Given the description of an element on the screen output the (x, y) to click on. 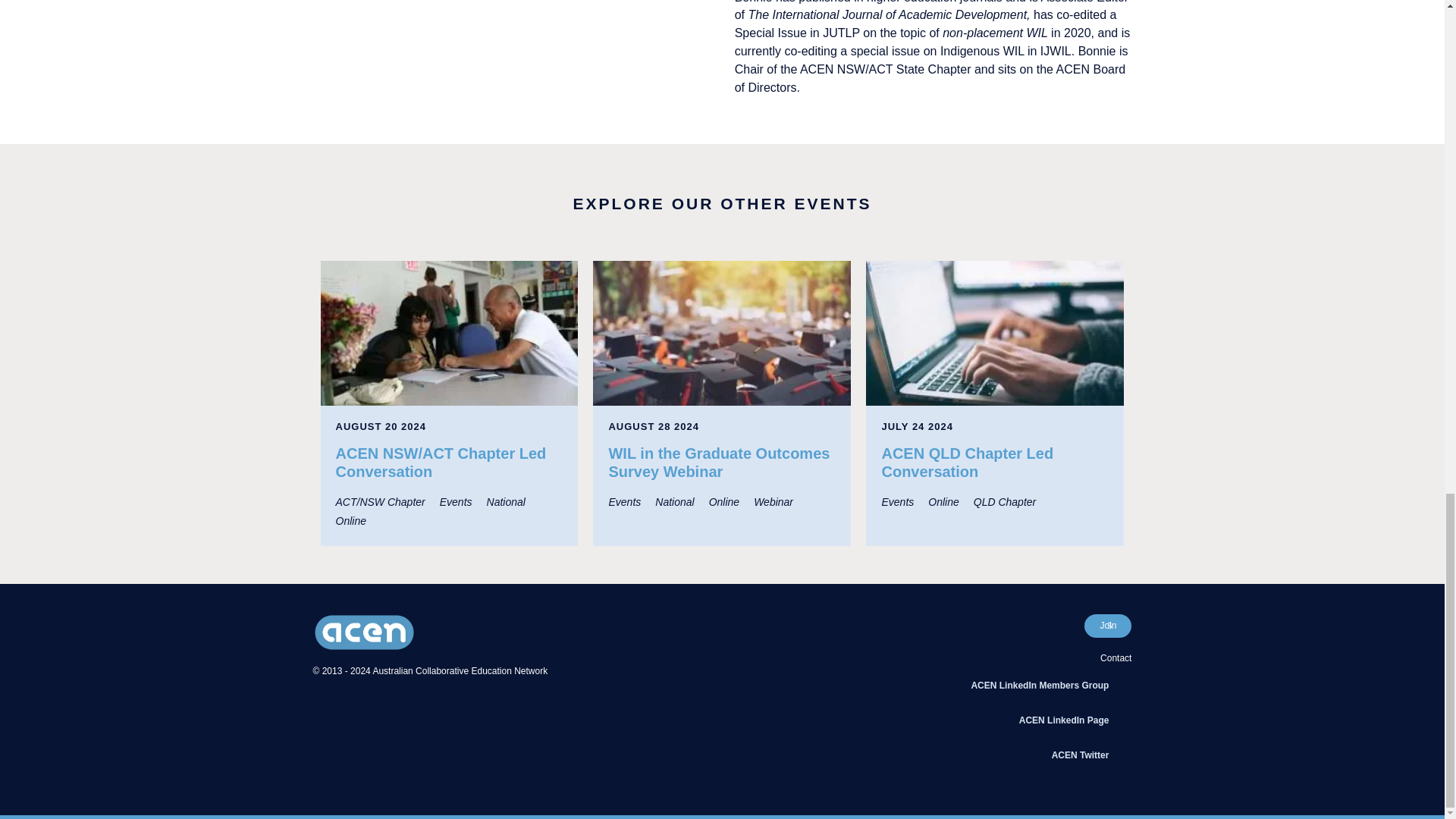
acen-logo-primary-badge-blue-1 (363, 632)
ACEN QLD Chapter Led Conversation (995, 333)
WIL in the Graduate Outcomes Survey Webinar (721, 333)
